Given the description of an element on the screen output the (x, y) to click on. 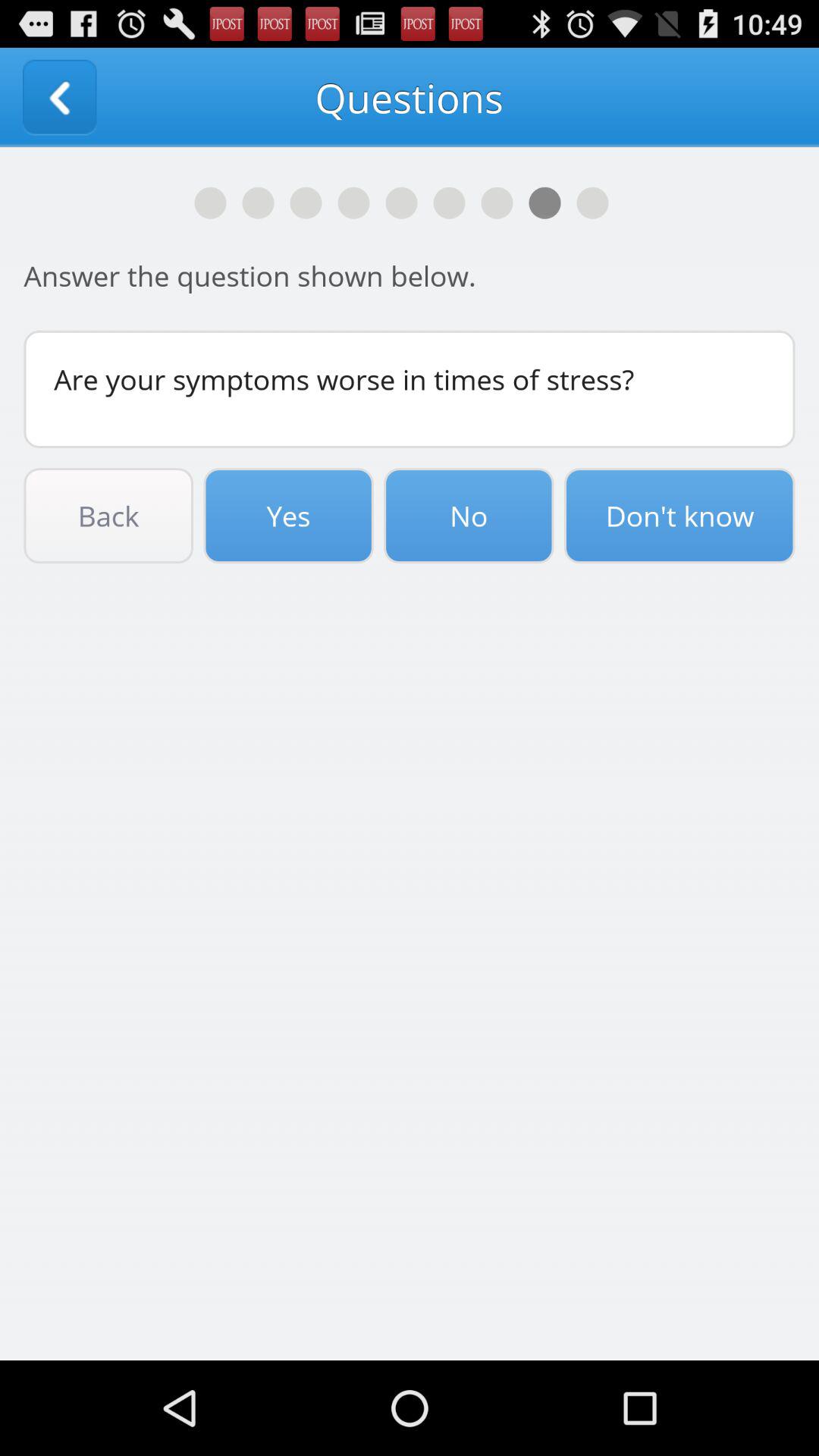
come back (59, 97)
